Given the description of an element on the screen output the (x, y) to click on. 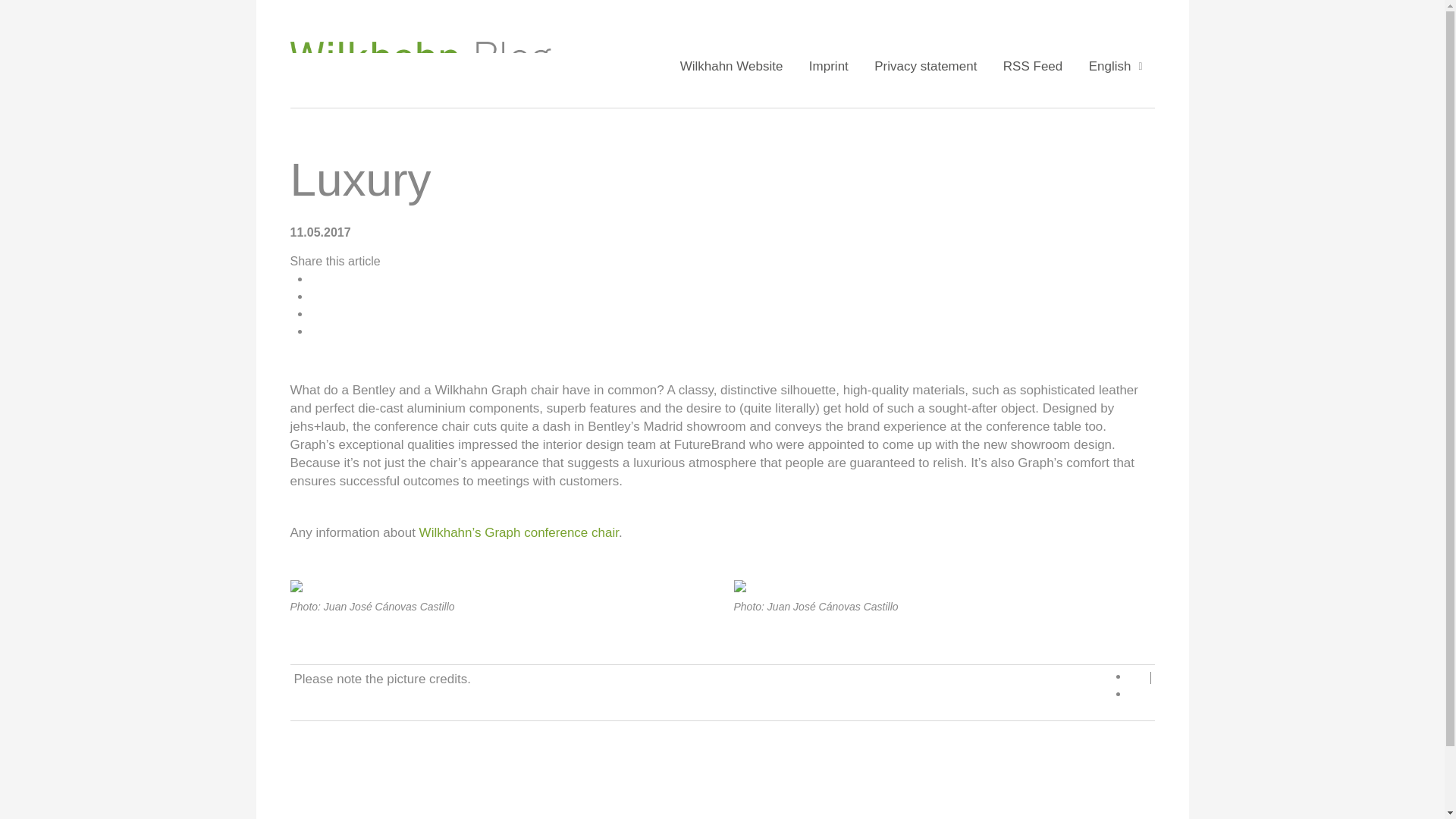
English (1109, 66)
English (1109, 66)
Imprint (828, 66)
Privacy statement (925, 66)
Wilkhahn Website (731, 66)
RSS Feed (1032, 66)
